Given the description of an element on the screen output the (x, y) to click on. 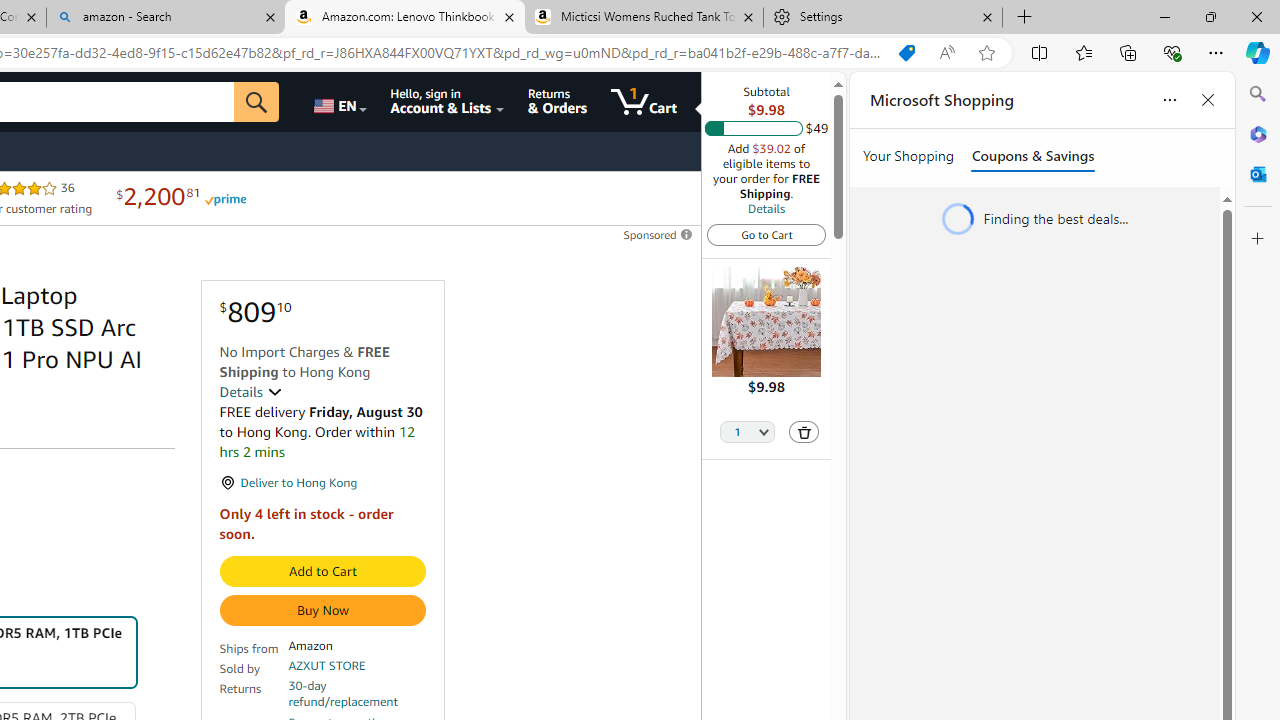
Buy Now (322, 610)
30-day refund/replacement (357, 693)
1 item in cart (643, 101)
Add to Cart (322, 571)
Delete (803, 431)
Prime (224, 198)
Details  (250, 391)
